Given the description of an element on the screen output the (x, y) to click on. 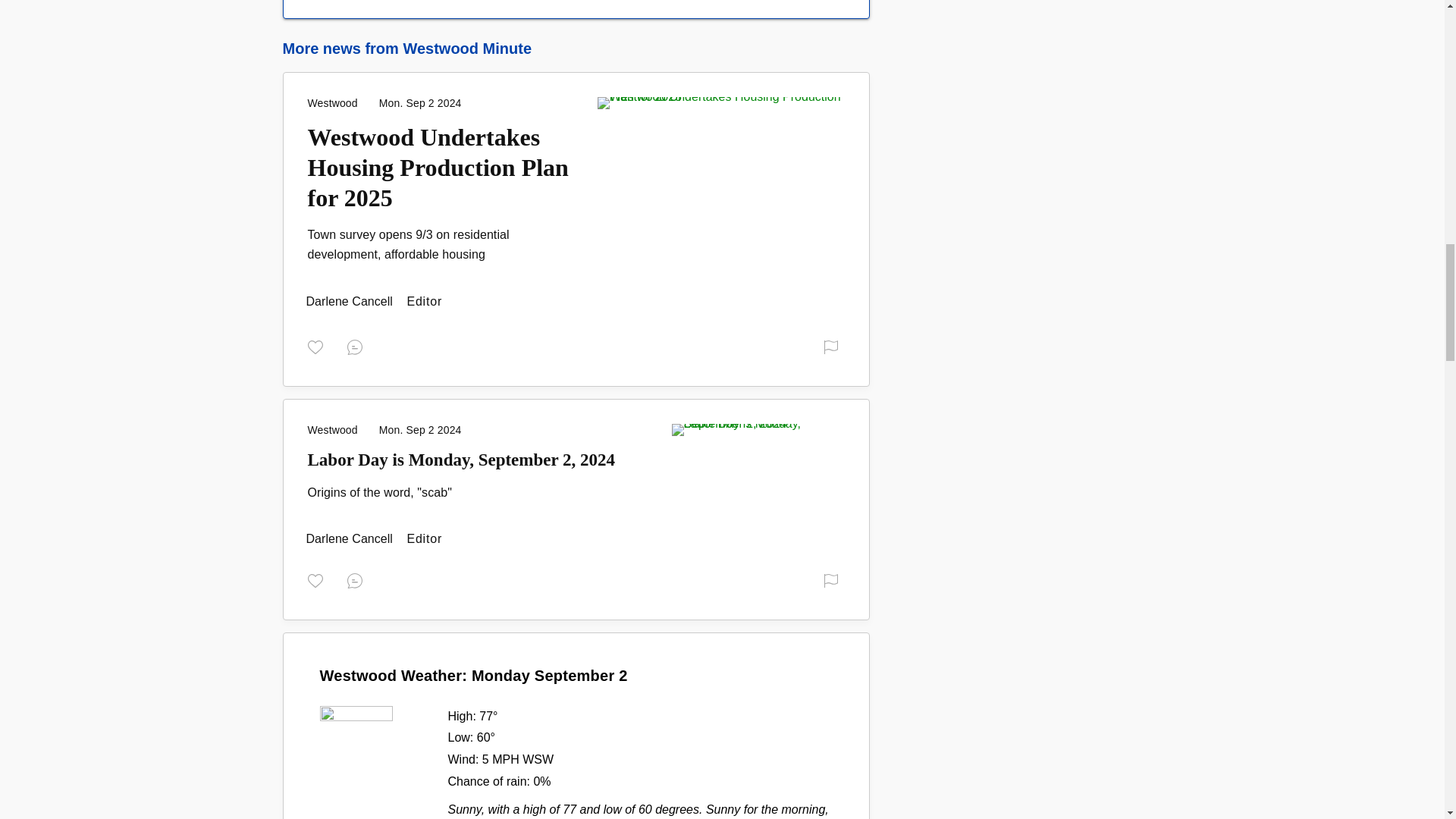
Thank (318, 346)
Reply (357, 346)
Thank (318, 580)
Editor (350, 538)
Reply (357, 580)
Editor (350, 300)
